Given the description of an element on the screen output the (x, y) to click on. 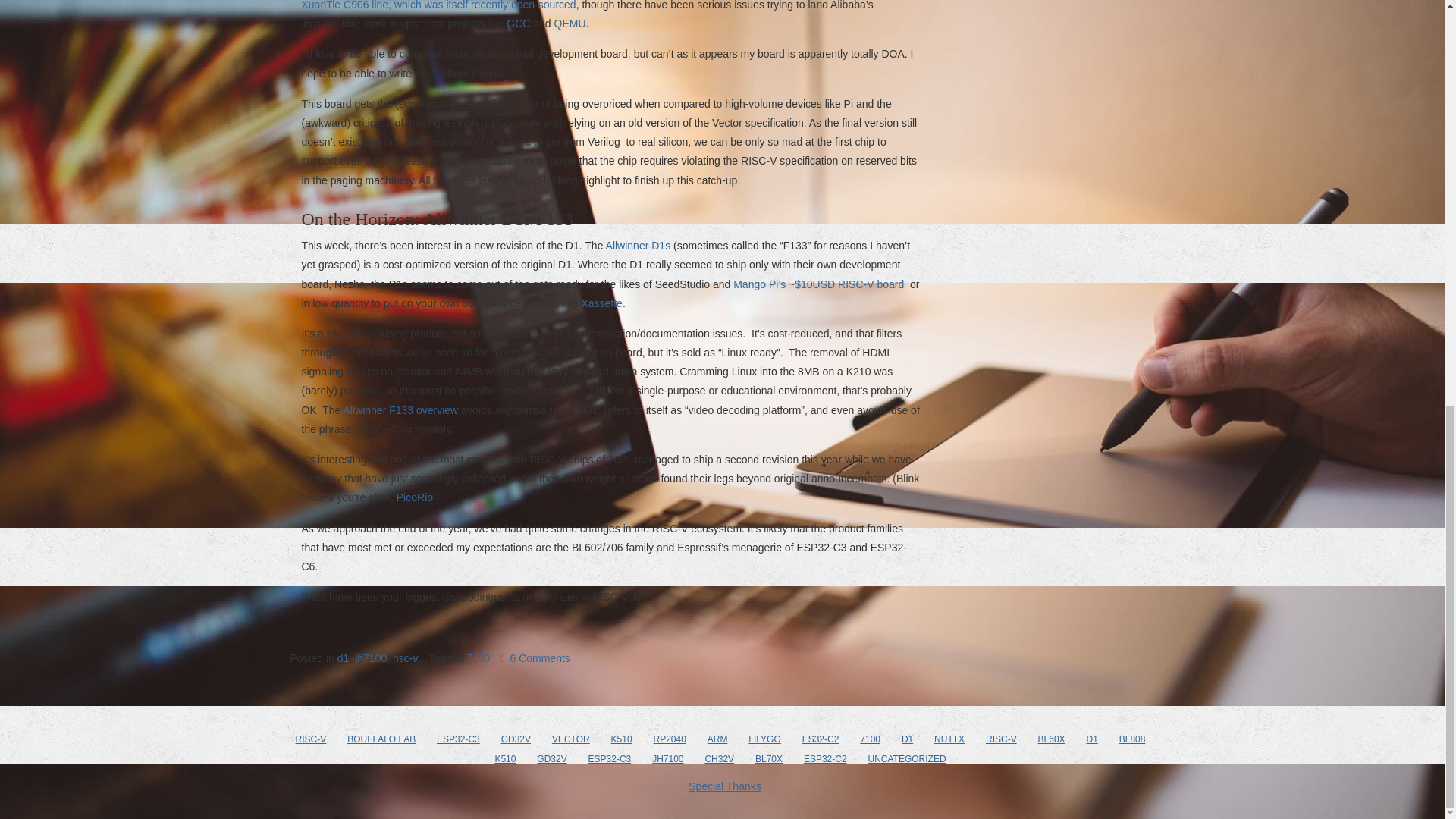
QEMU (570, 23)
GCC (517, 23)
jh7100 (371, 657)
d1 (343, 657)
risc-v (405, 657)
PicoRio (414, 497)
7100 (477, 657)
6 Comments (534, 657)
XuanTie C906 line, which was itself recently open-sourced (438, 5)
Allwinner F133 overview (400, 410)
